Given the description of an element on the screen output the (x, y) to click on. 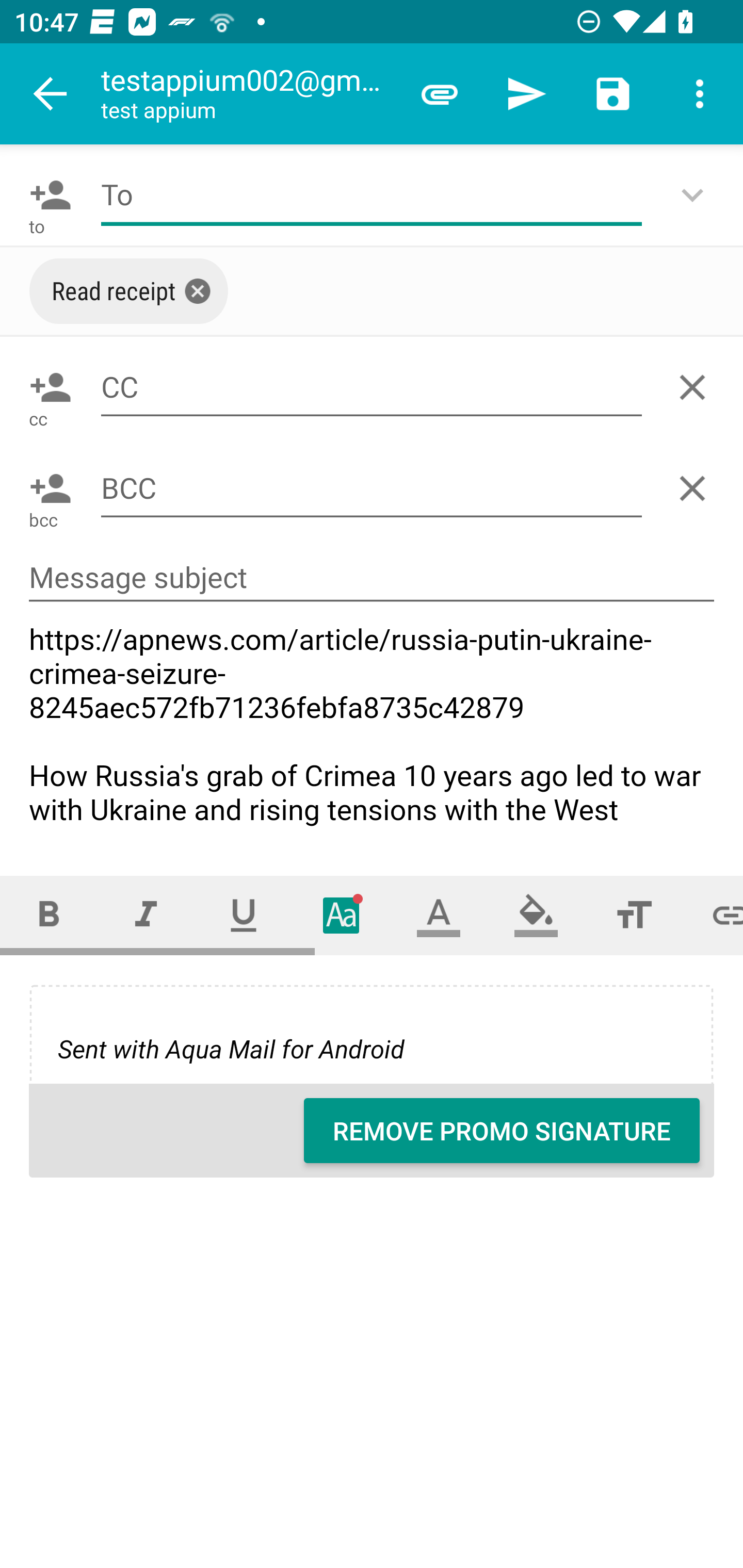
Navigate up (50, 93)
testappium002@gmail.com test appium (248, 93)
Attach (439, 93)
Send (525, 93)
Save (612, 93)
More options (699, 93)
Pick contact: To (46, 195)
Show/Add CC/BCC (696, 195)
To (371, 195)
Read receipt # (128, 291)
Pick contact: CC (46, 387)
Delete (696, 387)
CC (371, 387)
Pick contact: BCC (46, 488)
Delete (696, 488)
BCC (371, 488)
Message subject (371, 577)
Bold (48, 915)
Italic (145, 915)
Underline (243, 915)
Typeface (font) (341, 915)
Text color (438, 915)
Fill color (536, 915)
Font size (633, 915)
Set link (712, 915)
REMOVE PROMO SIGNATURE (501, 1130)
